Given the description of an element on the screen output the (x, y) to click on. 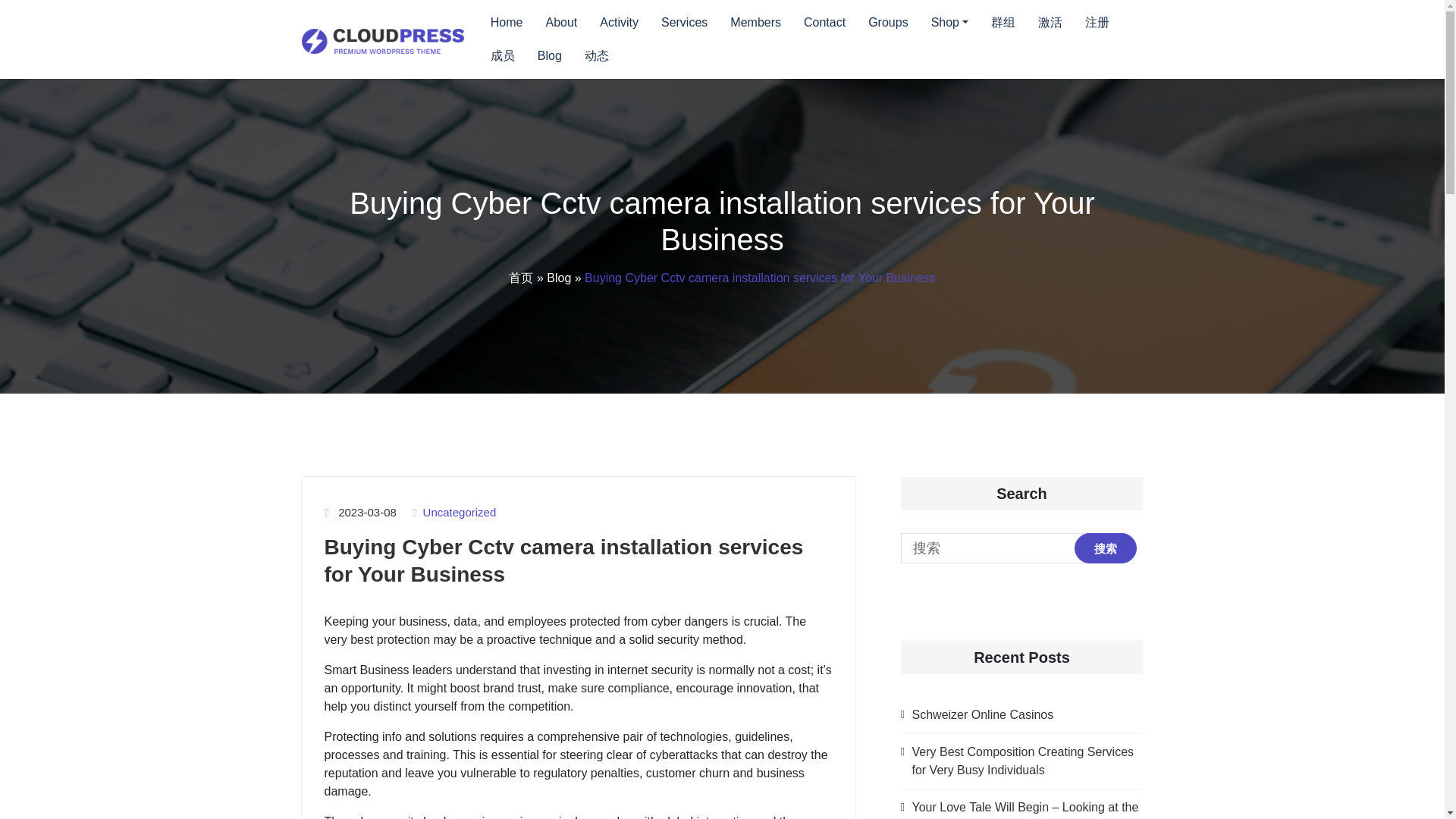
Contact (824, 22)
Members (755, 22)
About (560, 22)
Services (684, 22)
Uncategorized (459, 512)
Shop (949, 22)
Home (506, 22)
Blog (558, 277)
2023-03-08 (366, 512)
